Given the description of an element on the screen output the (x, y) to click on. 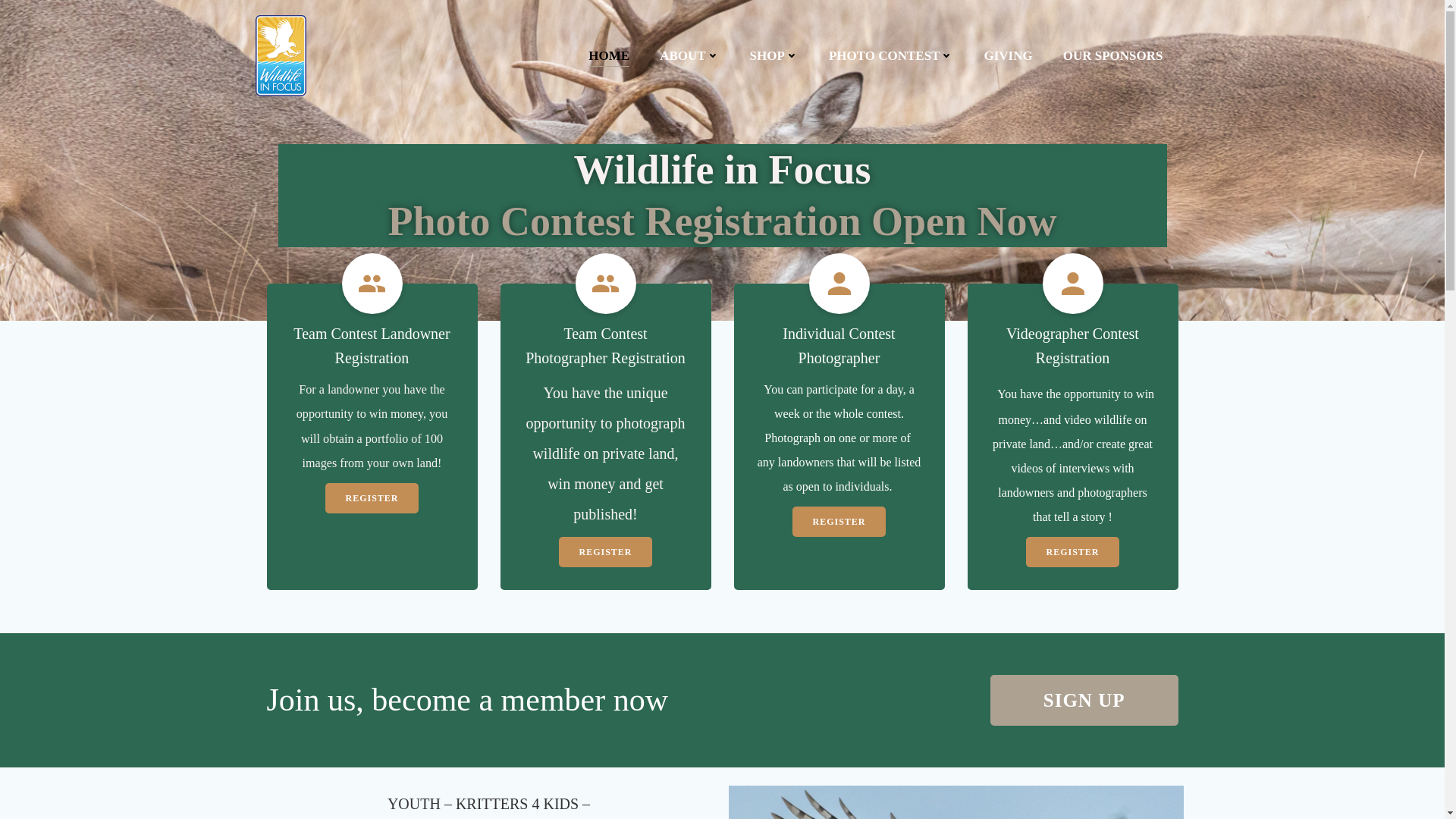
REGISTER (604, 552)
GIVING (1008, 55)
SHOP (773, 55)
SIGN UP (1083, 699)
REGISTER (838, 521)
PHOTO CONTEST (890, 55)
OUR SPONSORS (1112, 55)
REGISTER (1072, 552)
HOME (608, 55)
REGISTER (370, 498)
ABOUT (689, 55)
